Given the description of an element on the screen output the (x, y) to click on. 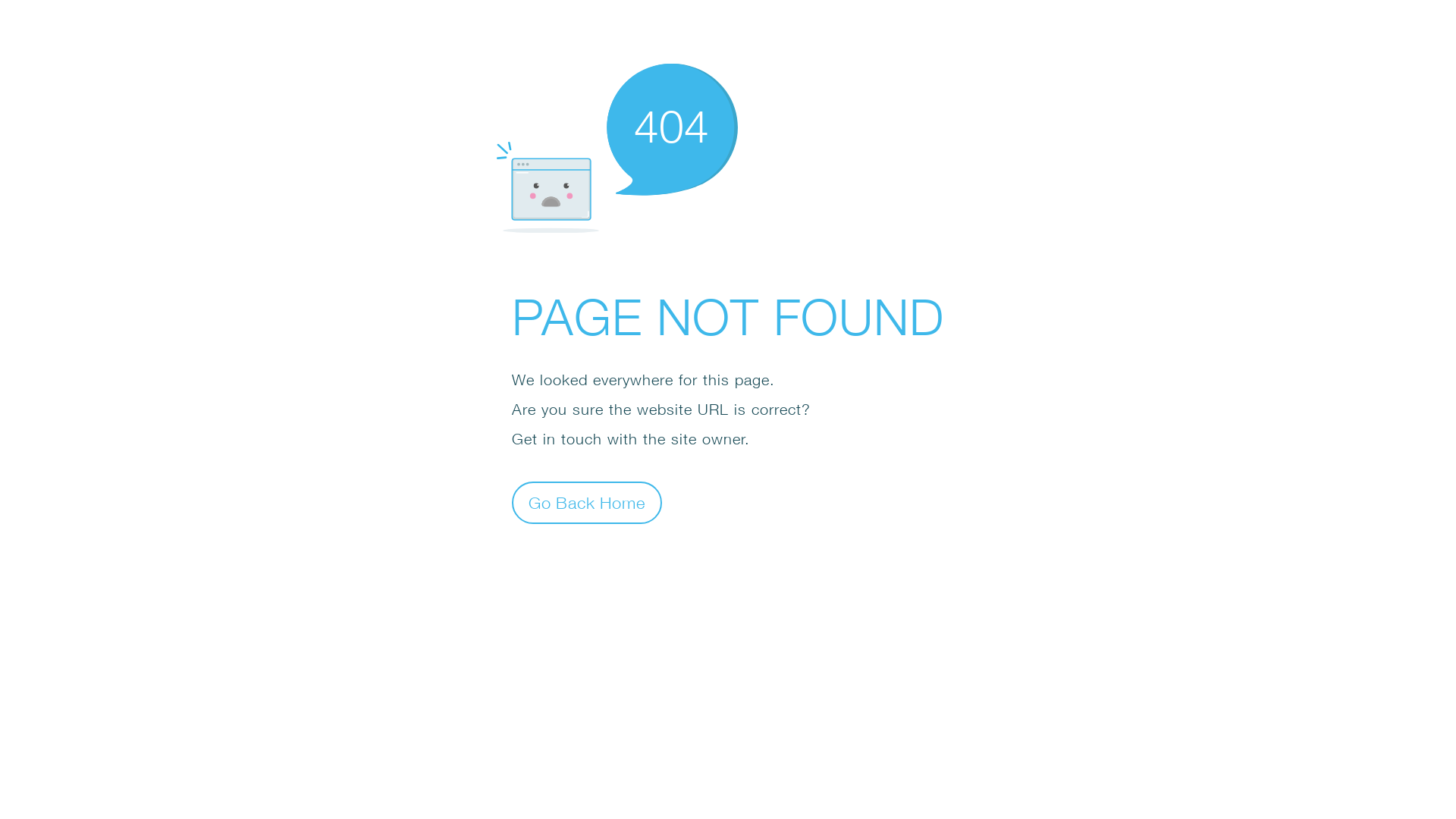
Go Back Home Element type: text (586, 502)
